Given the description of an element on the screen output the (x, y) to click on. 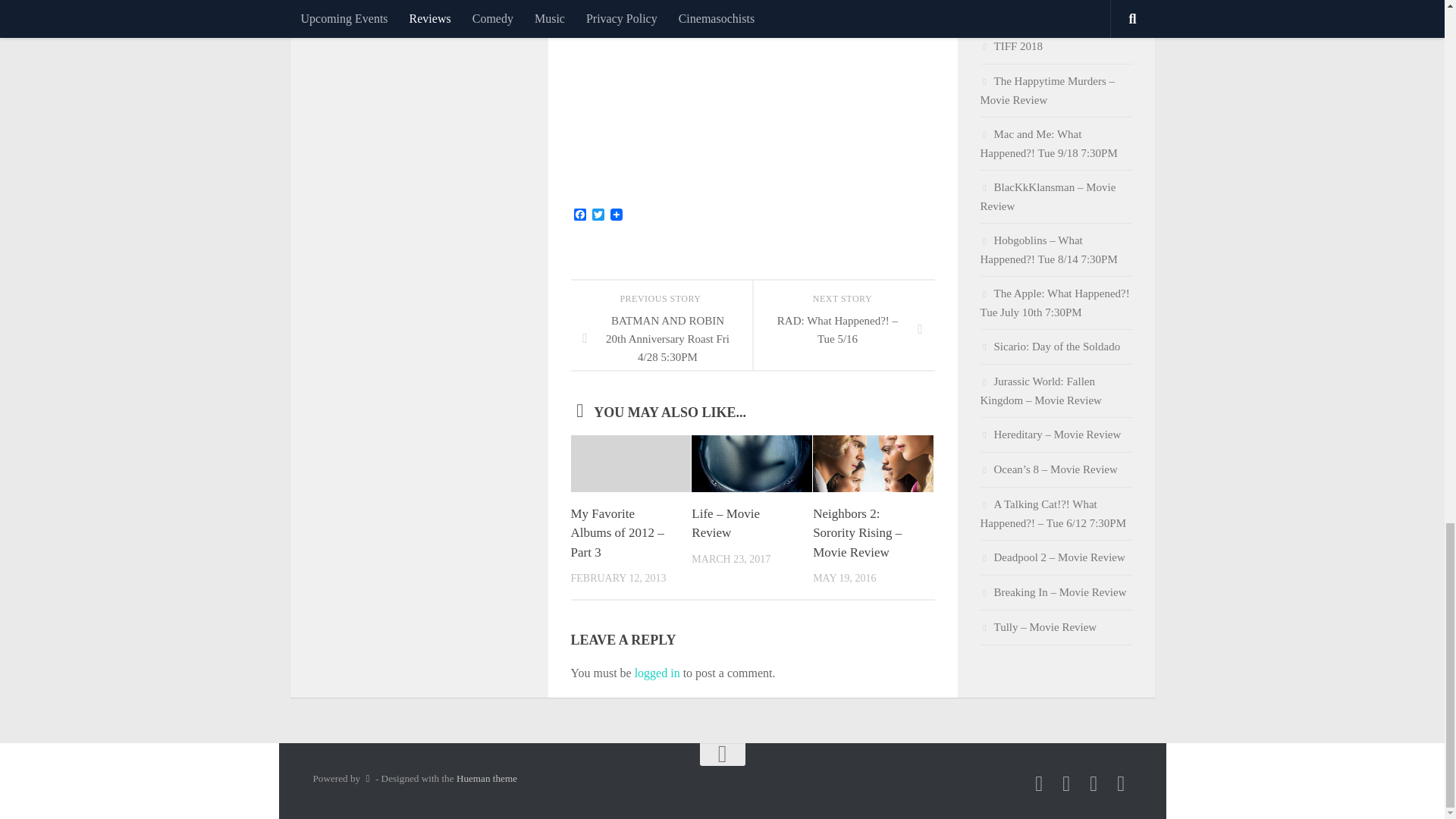
Twitter (597, 215)
Facebook (579, 215)
Twitter (597, 215)
Facebook (579, 215)
logged in (656, 672)
